Given the description of an element on the screen output the (x, y) to click on. 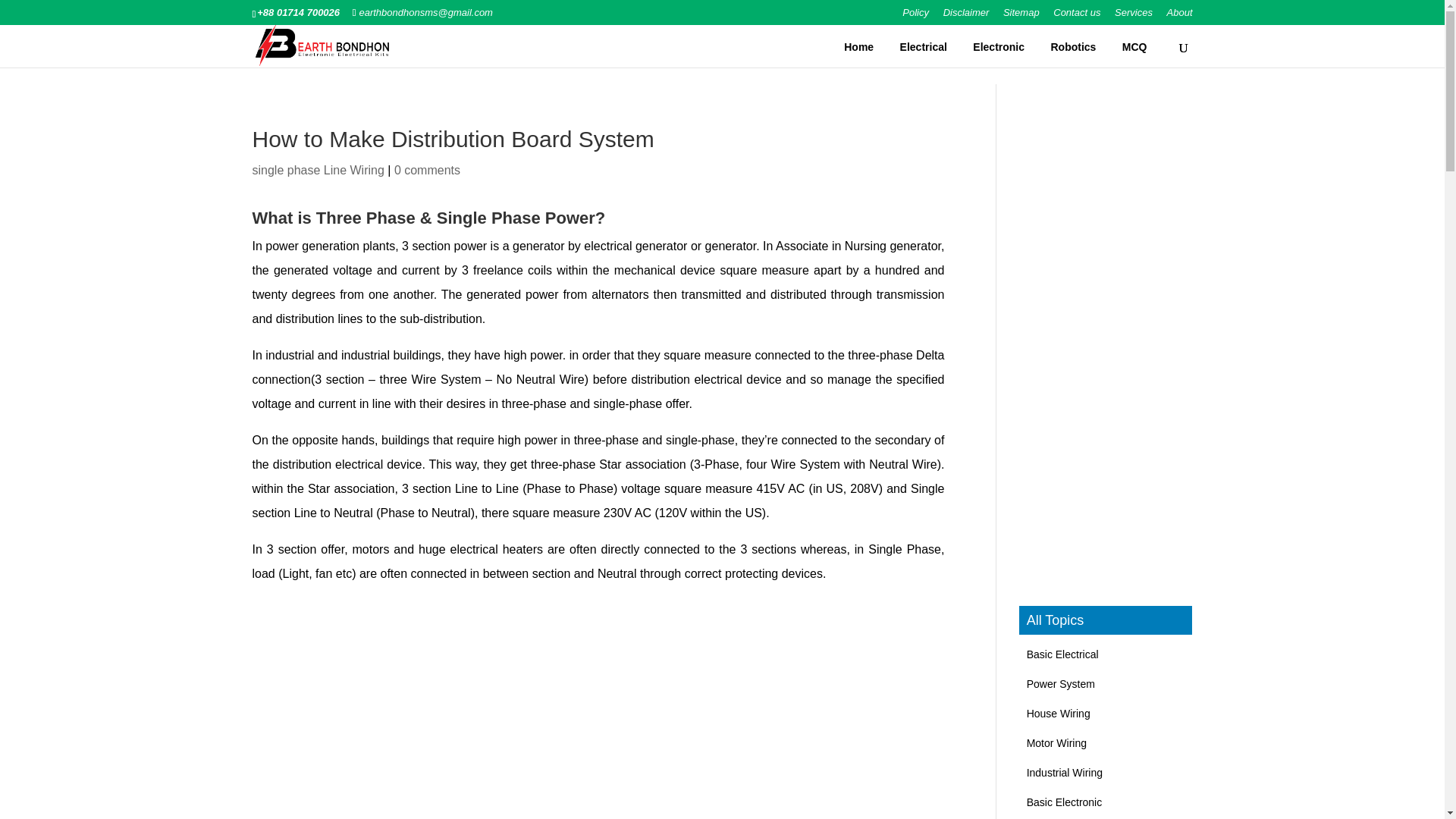
Home (857, 46)
Electronic (998, 46)
Disclaimer (966, 16)
MCQ (1134, 46)
Robotics (1072, 46)
About (1179, 16)
Electrical (923, 46)
Contact us (1076, 16)
Services (1134, 16)
